Given the description of an element on the screen output the (x, y) to click on. 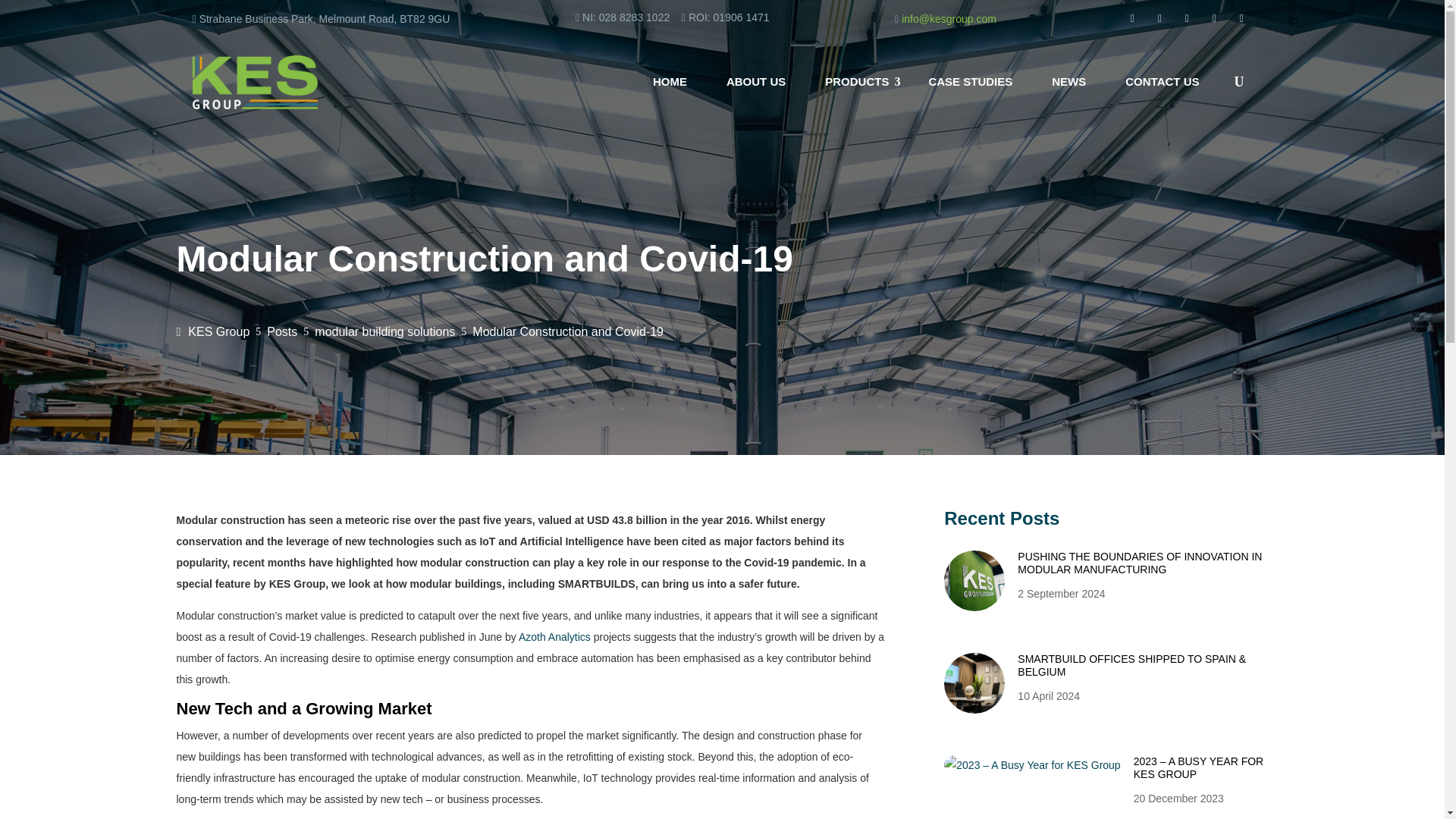
NI: 028 8283 1022     (628, 17)
Follow on X (1186, 18)
Follow on LinkedIn (1214, 18)
Posts (281, 332)
ABOUT US (755, 81)
CASE STUDIES (970, 81)
NEWS (1069, 81)
CONTACT US (1161, 81)
Azoth Analytics (554, 636)
PRODUCTS (856, 81)
